Given the description of an element on the screen output the (x, y) to click on. 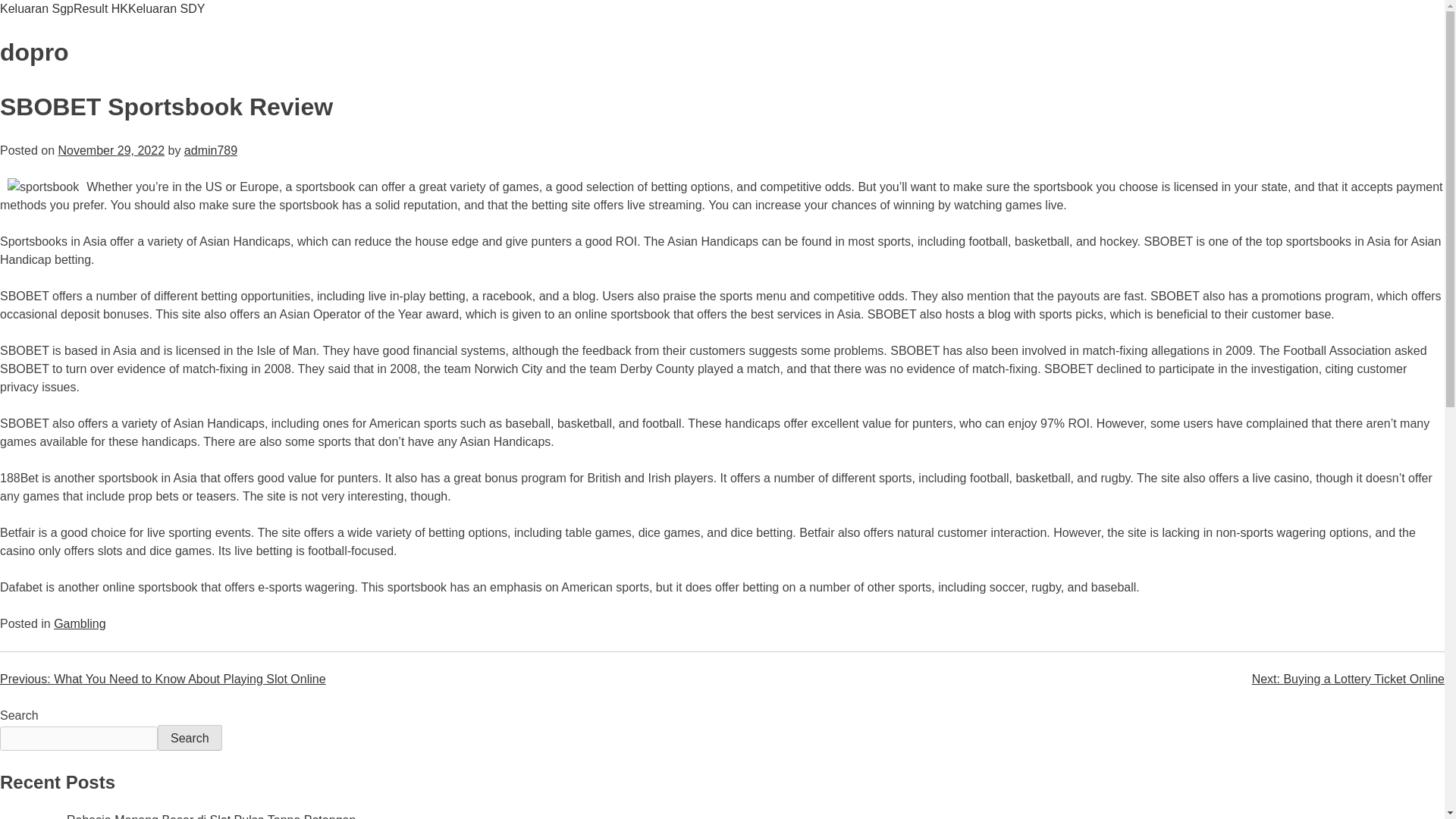
November 29, 2022 (111, 150)
Rahasia Menang Besar di Slot Pulsa Tanpa Potongan (210, 816)
Gambling (78, 623)
Search (189, 737)
Previous: What You Need to Know About Playing Slot Online (163, 678)
Result HK (101, 9)
Keluaran Sgp (37, 9)
admin789 (210, 150)
Keluaran SDY (166, 9)
